Given the description of an element on the screen output the (x, y) to click on. 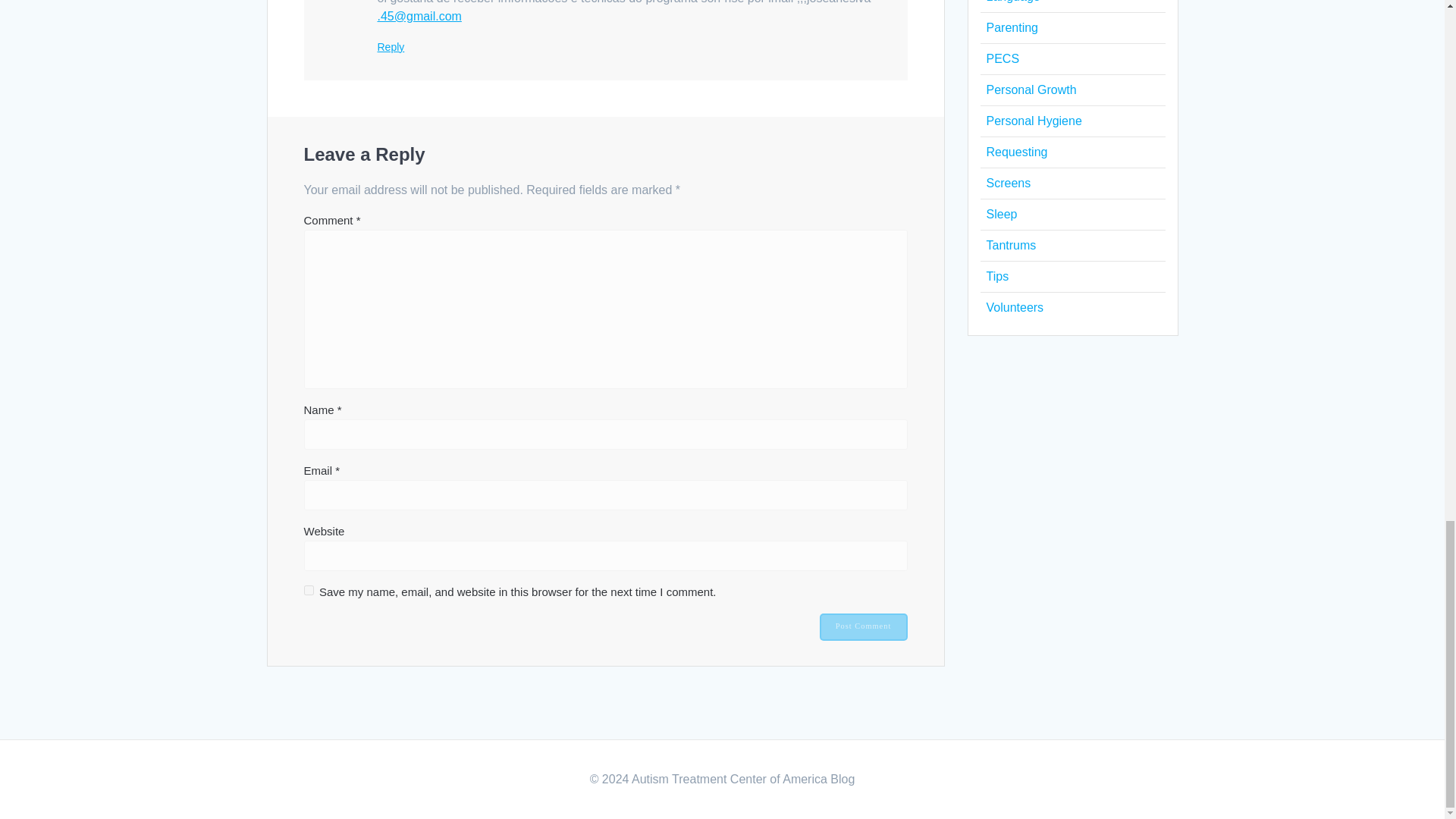
Post Comment (863, 626)
Reply (390, 46)
yes (307, 590)
